Given the description of an element on the screen output the (x, y) to click on. 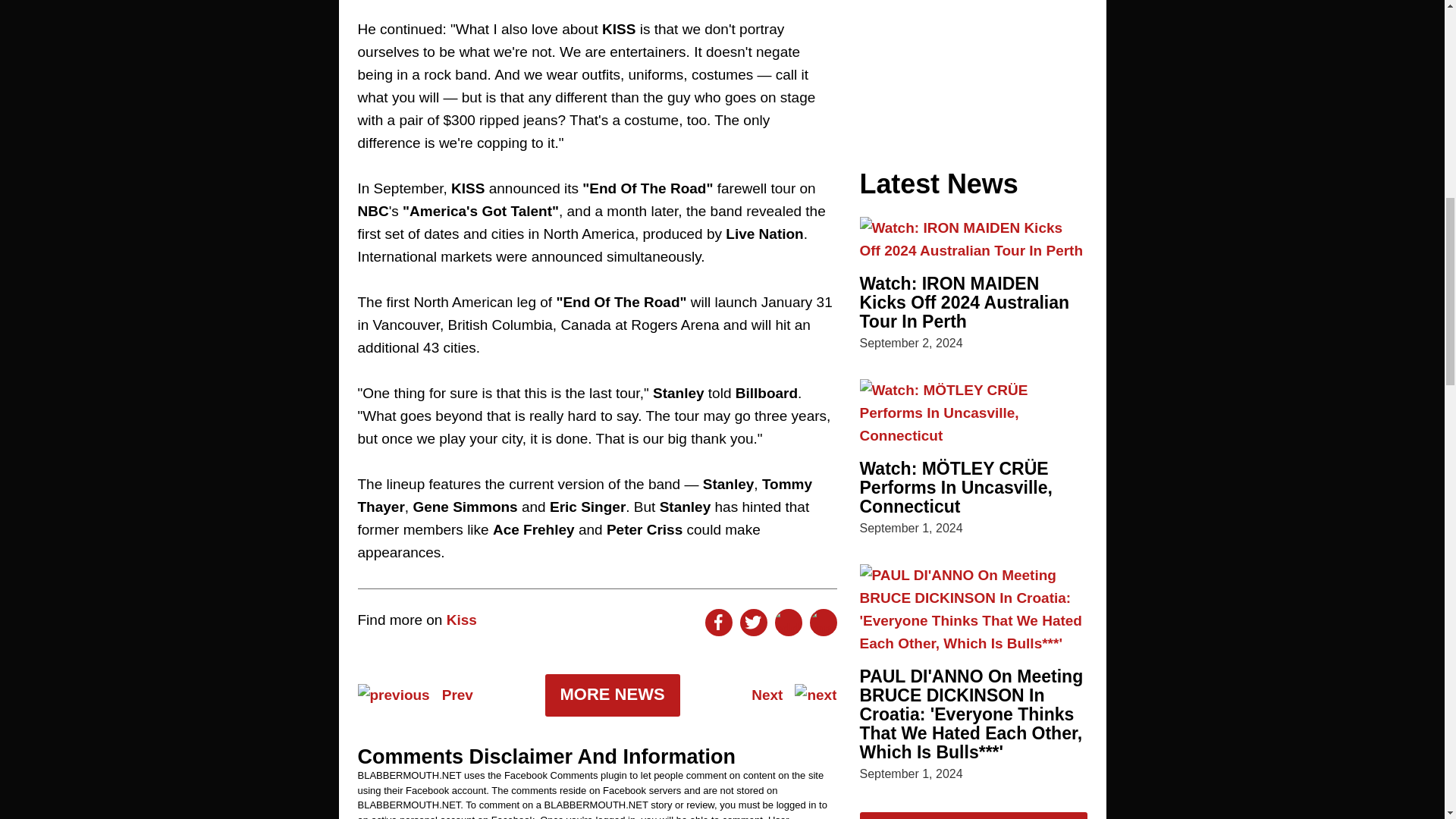
Kiss (461, 619)
Copy To Clipboard (823, 622)
Watch: IRON MAIDEN Kicks Off 2024 Australian Tour In Perth (965, 302)
Share On Twitter (753, 622)
Share On Reddit (788, 622)
MORE NEWS (611, 695)
Share On Facebook (718, 622)
Prev (415, 694)
Next (793, 694)
